Given the description of an element on the screen output the (x, y) to click on. 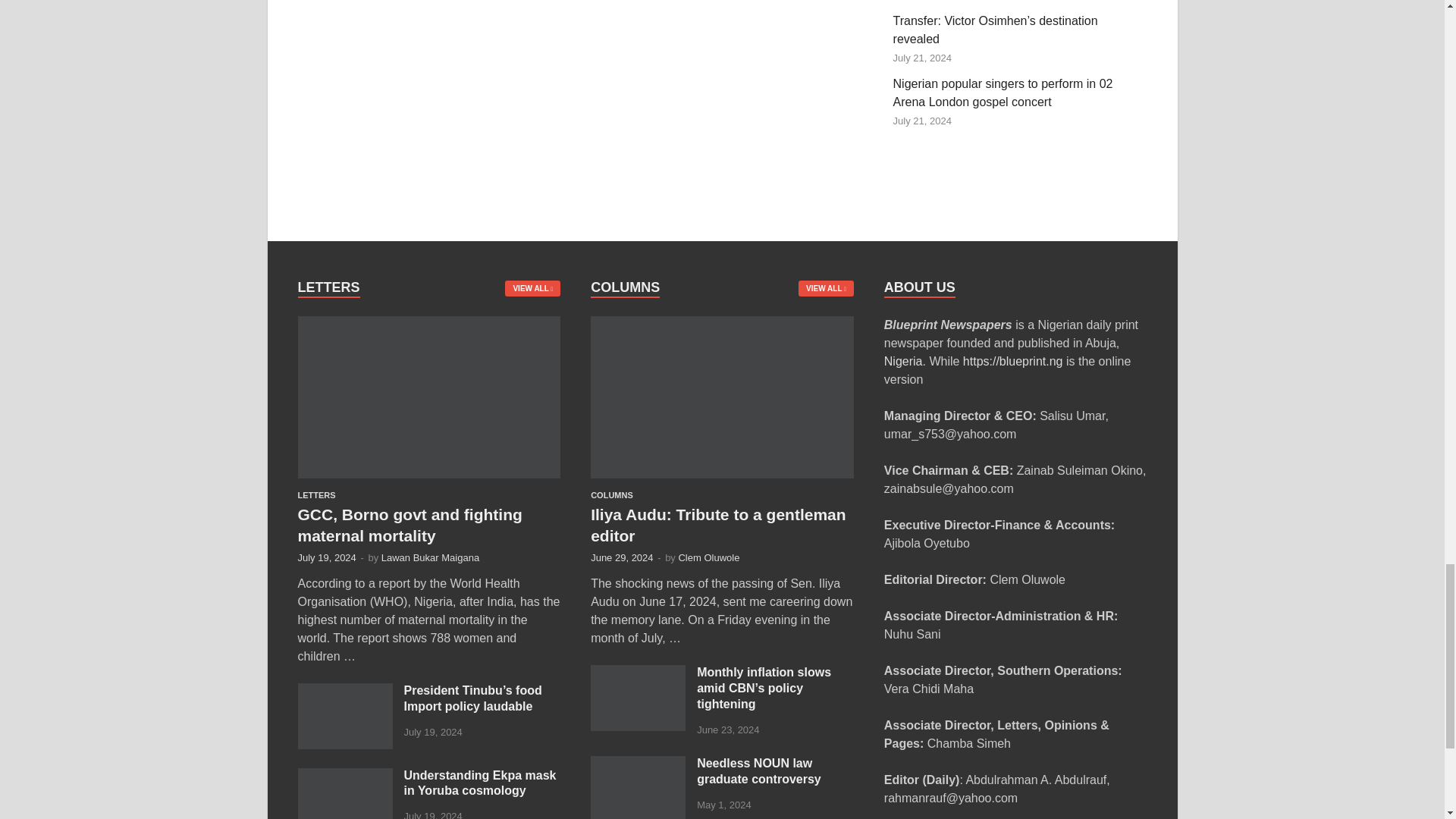
GCC, Borno govt and fighting maternal mortality (428, 324)
Understanding Ekpa mask in Yoruba cosmology (344, 776)
Iliya Audu: Tribute to a gentleman editor (722, 324)
